Given the description of an element on the screen output the (x, y) to click on. 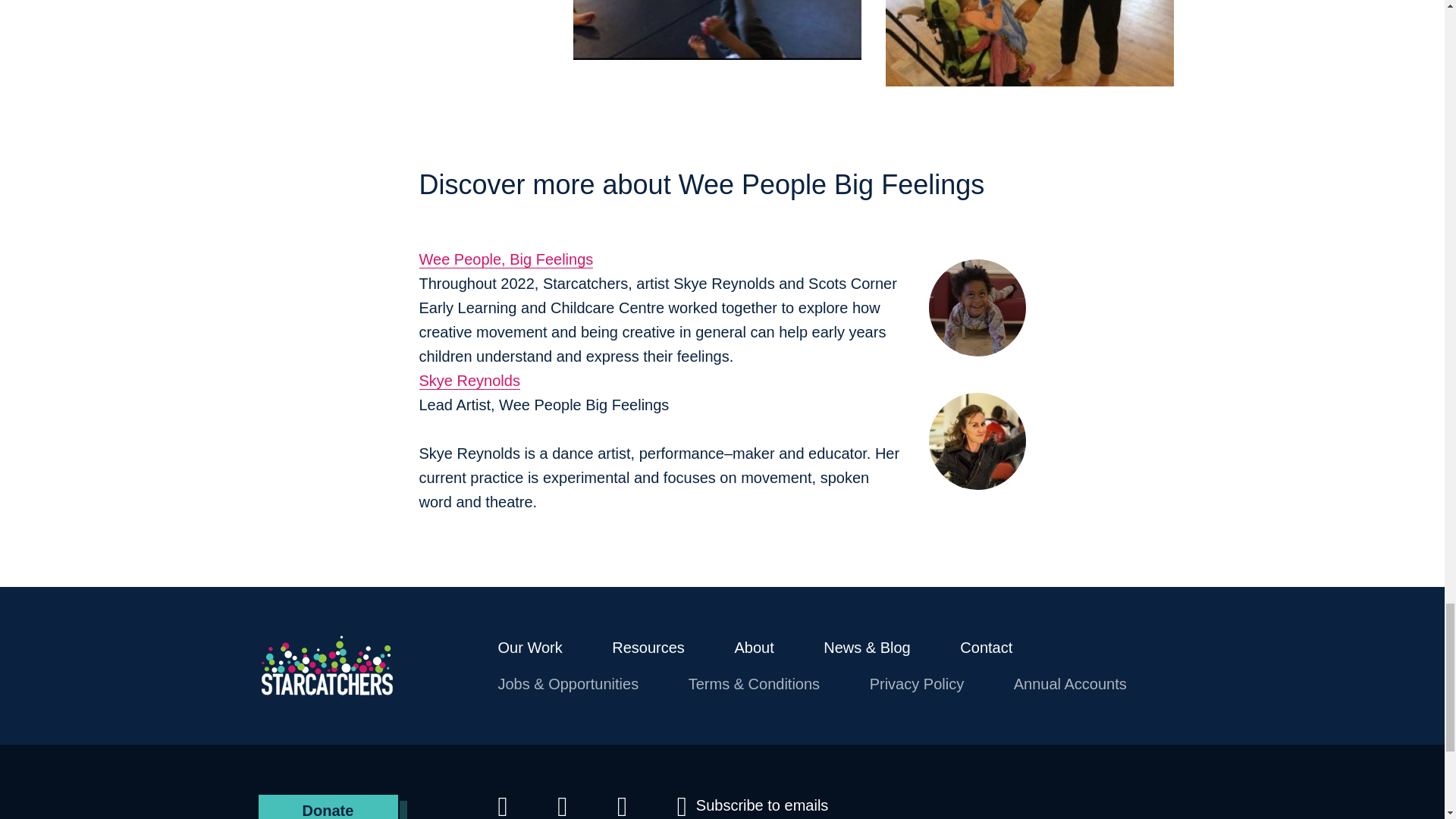
Resources (647, 647)
Our Work (529, 647)
Skye Reynolds (469, 380)
Wee People, Big Feelings (505, 259)
